Given the description of an element on the screen output the (x, y) to click on. 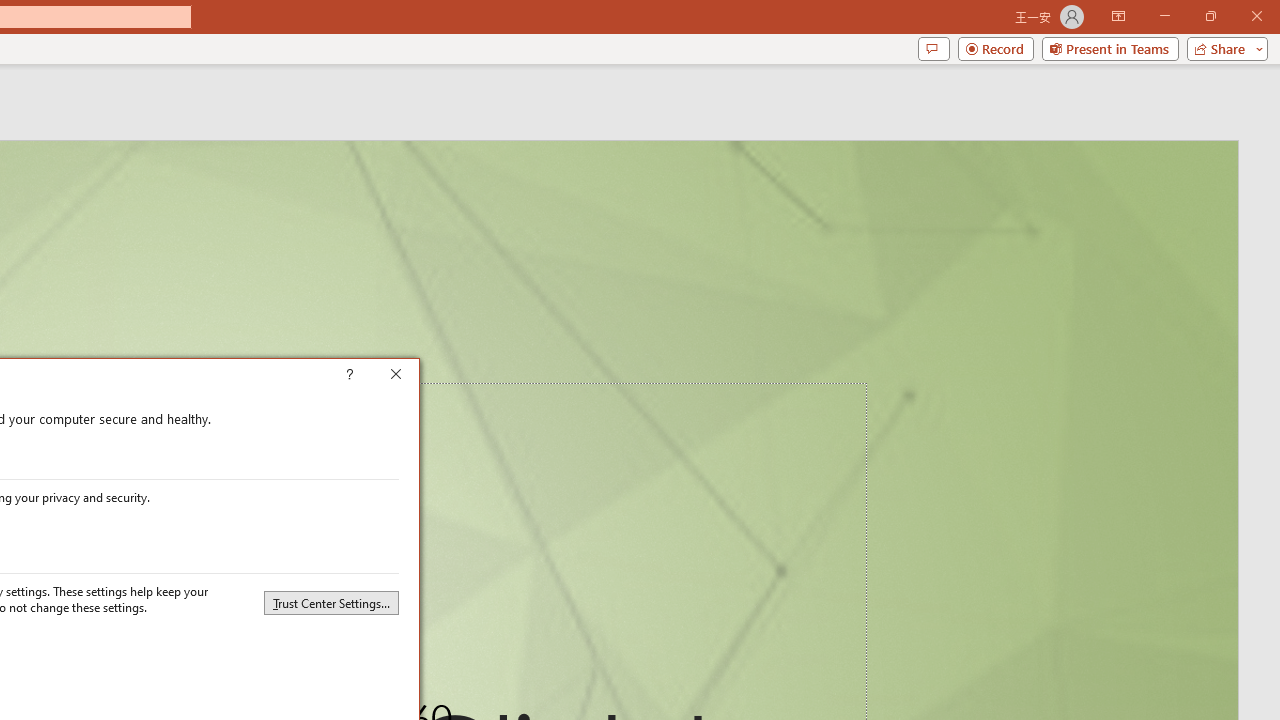
Context help (378, 376)
Trust Center Settings... (331, 602)
